Given the description of an element on the screen output the (x, y) to click on. 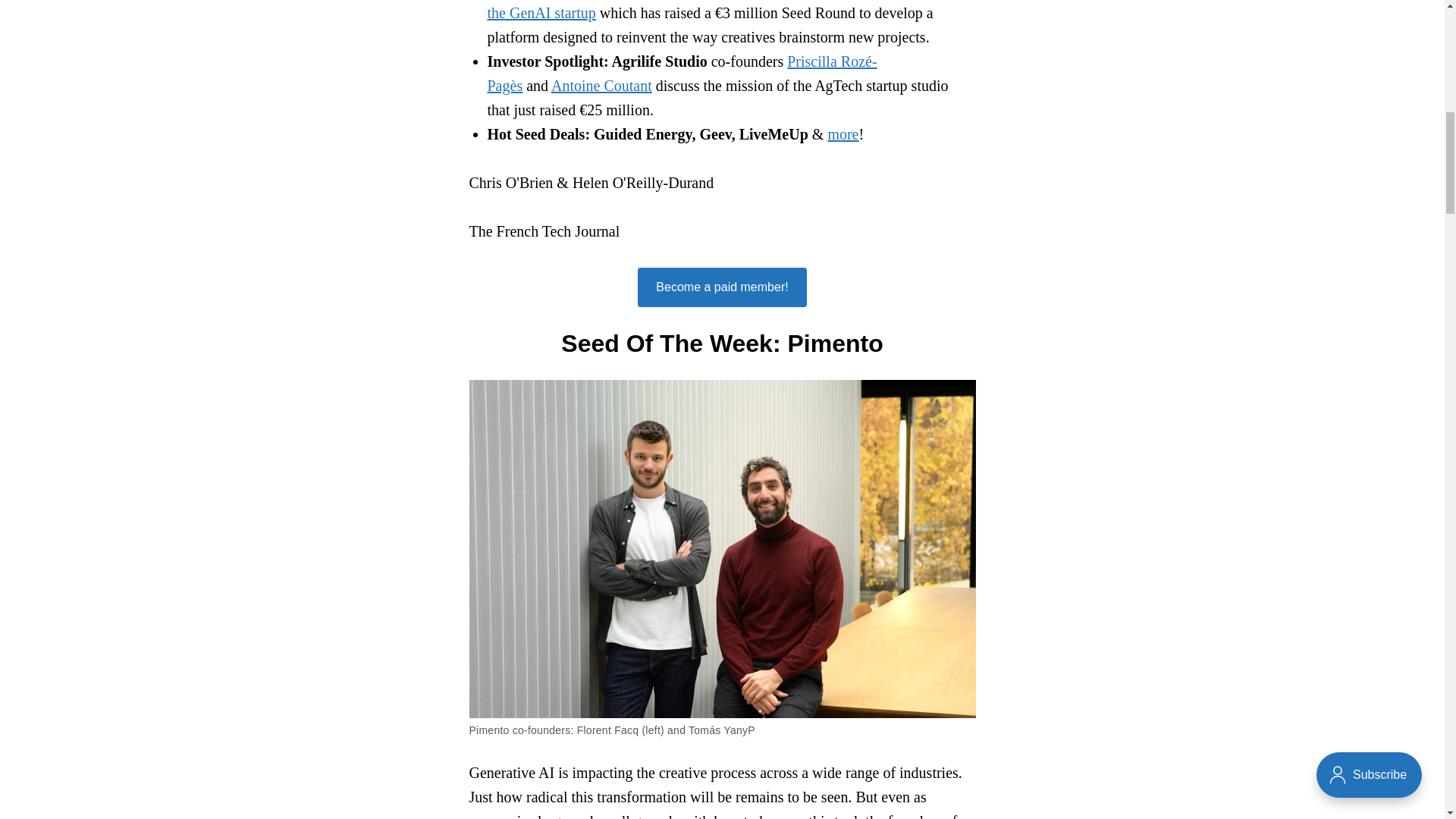
Antoine Coutant (601, 85)
more (843, 134)
takes us behind the scenes of the GenAI startup (724, 10)
Become a paid member! (721, 287)
